Given the description of an element on the screen output the (x, y) to click on. 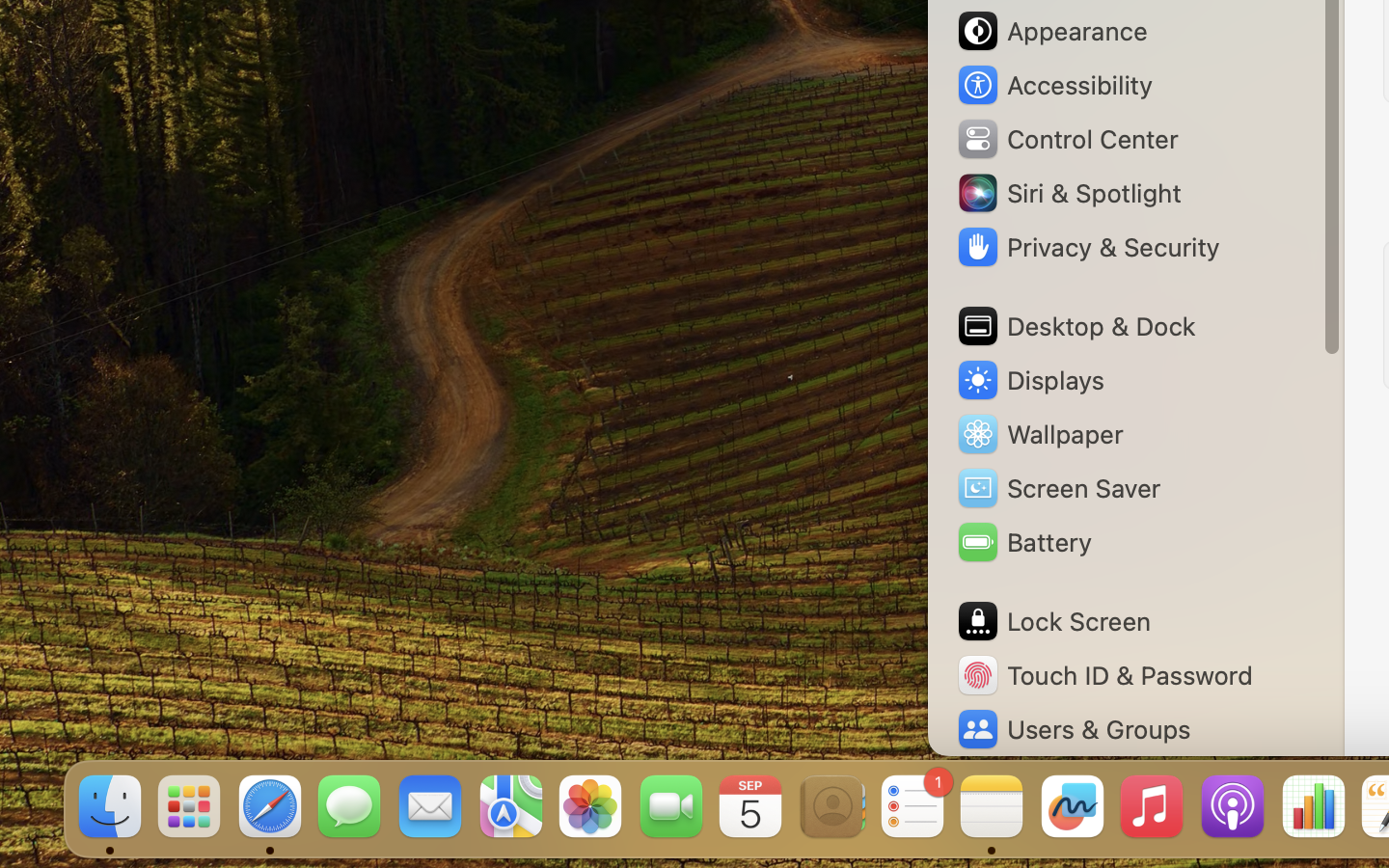
Displays Element type: AXStaticText (1029, 379)
Appearance Element type: AXStaticText (1050, 30)
Lock Screen Element type: AXStaticText (1052, 620)
